Given the description of an element on the screen output the (x, y) to click on. 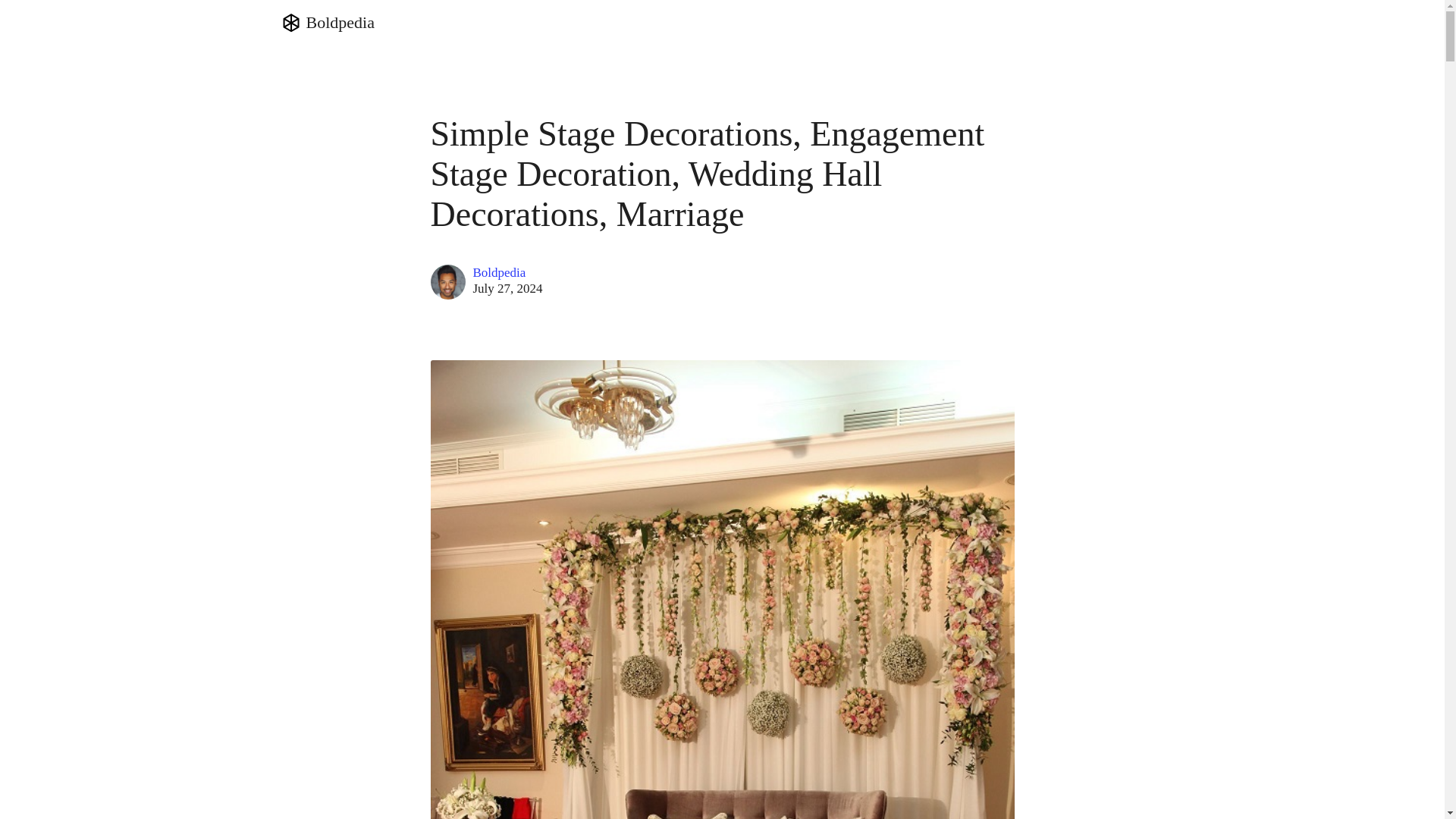
Boldpedia (326, 22)
Boldpedia (508, 272)
